Given the description of an element on the screen output the (x, y) to click on. 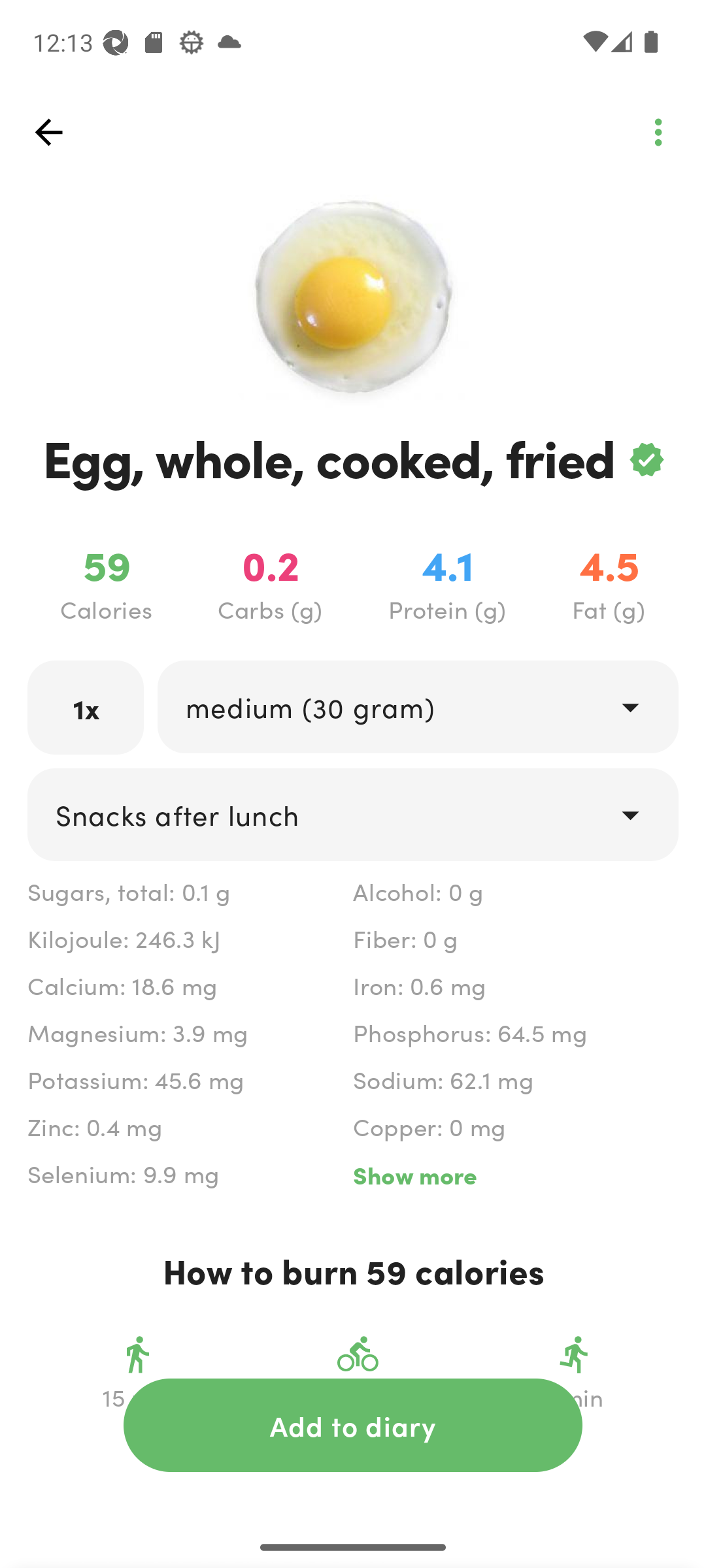
top_left_action (48, 132)
top_left_action (658, 132)
1x labeled_edit_text (85, 707)
drop_down medium (30 gram) (417, 706)
drop_down Snacks after lunch (352, 814)
Show more (515, 1174)
action_button Add to diary (352, 1425)
